Given the description of an element on the screen output the (x, y) to click on. 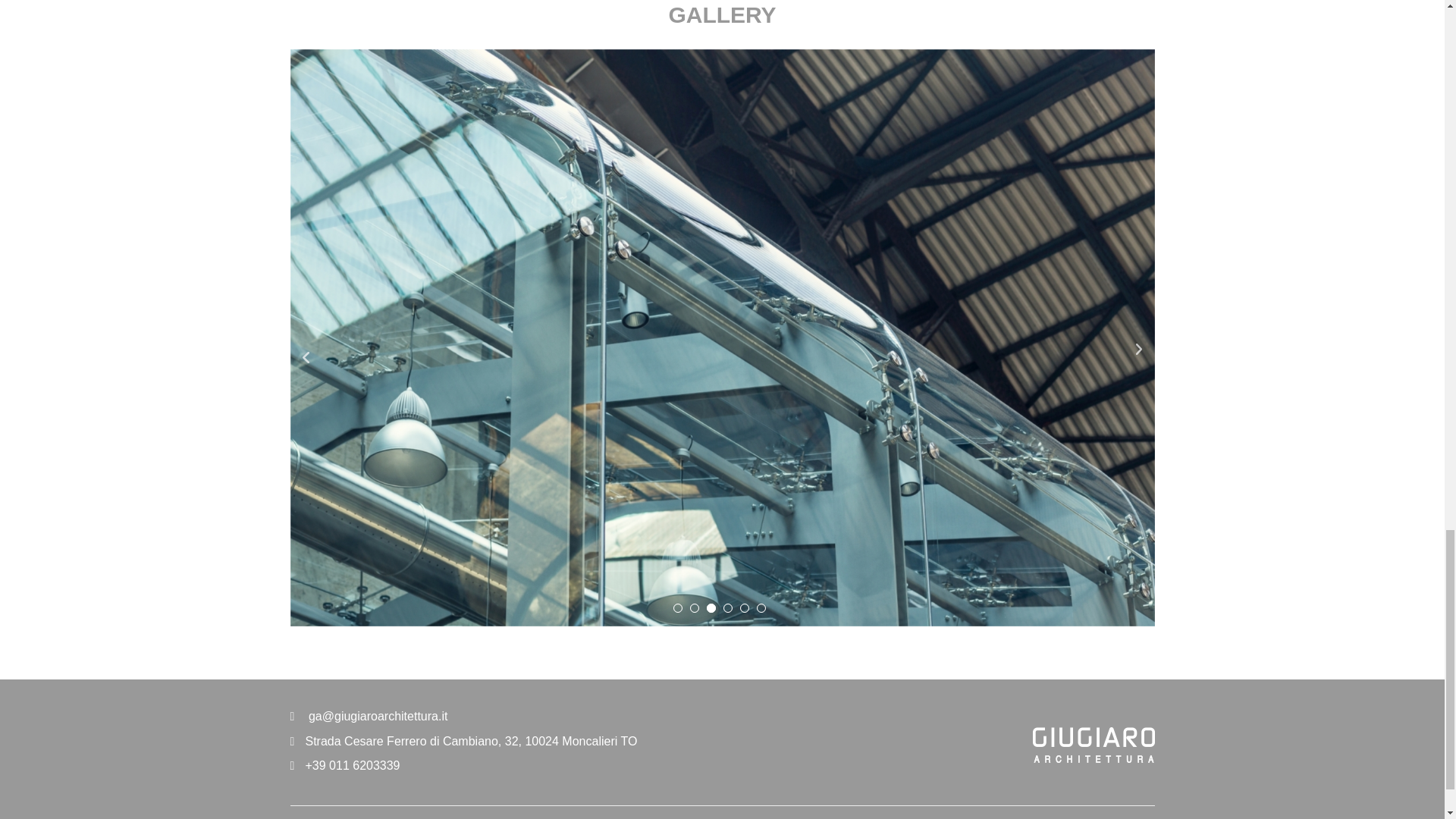
6 (761, 607)
4 (727, 607)
Previous (305, 353)
1 (677, 607)
Next (1138, 353)
5 (744, 607)
3 (711, 607)
2 (694, 607)
